Given the description of an element on the screen output the (x, y) to click on. 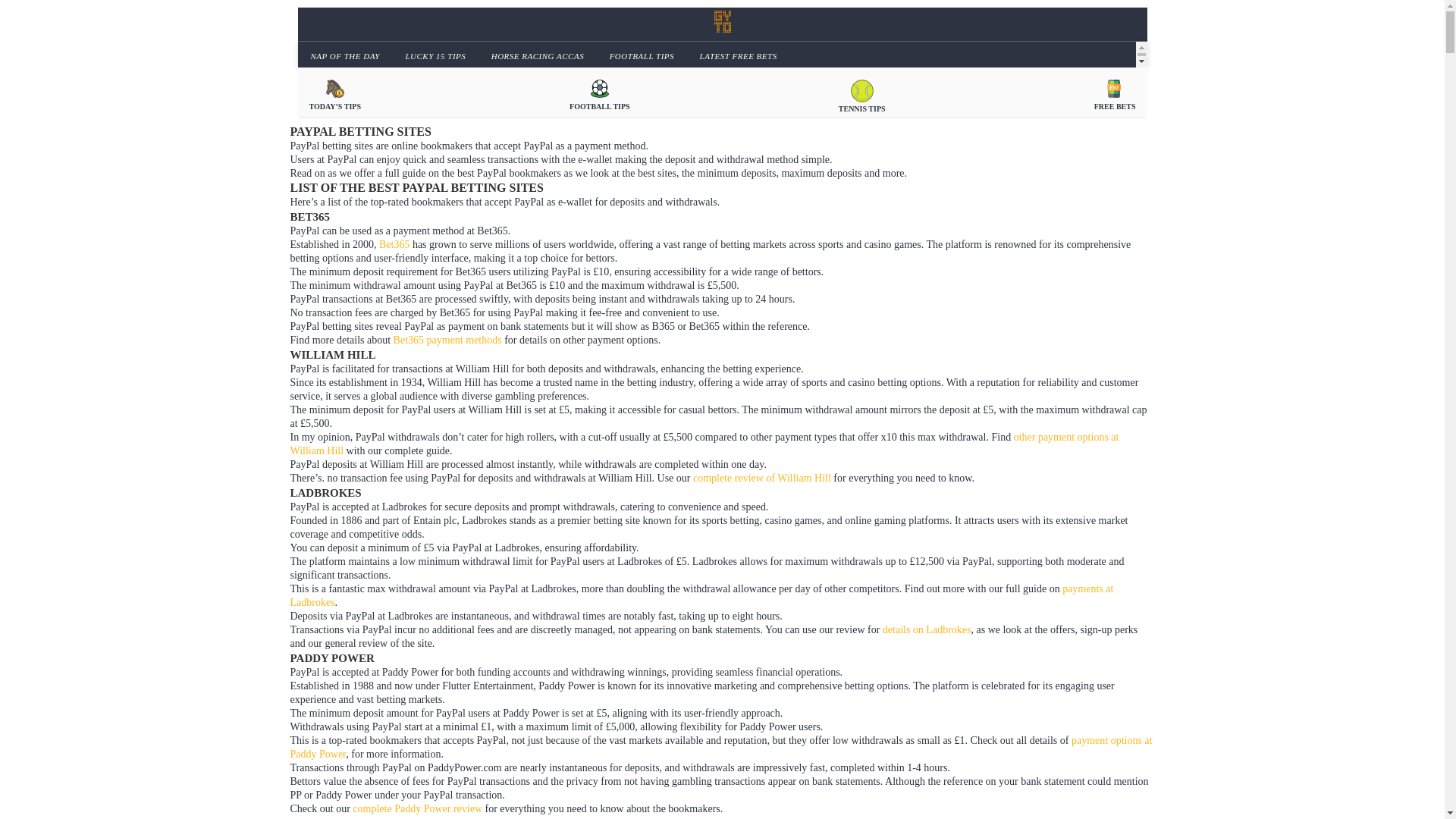
FOOTBALL TIPS (639, 54)
FOOTBALL TIPS (599, 93)
complete review of William Hill (762, 478)
payment options at Paddy Power (720, 747)
other payment options at William Hill (703, 443)
TENNIS TIPS (861, 93)
payment options at Paddy Power (720, 747)
Bet365 payment methods (447, 339)
Bet365 payment methods (447, 339)
